Given the description of an element on the screen output the (x, y) to click on. 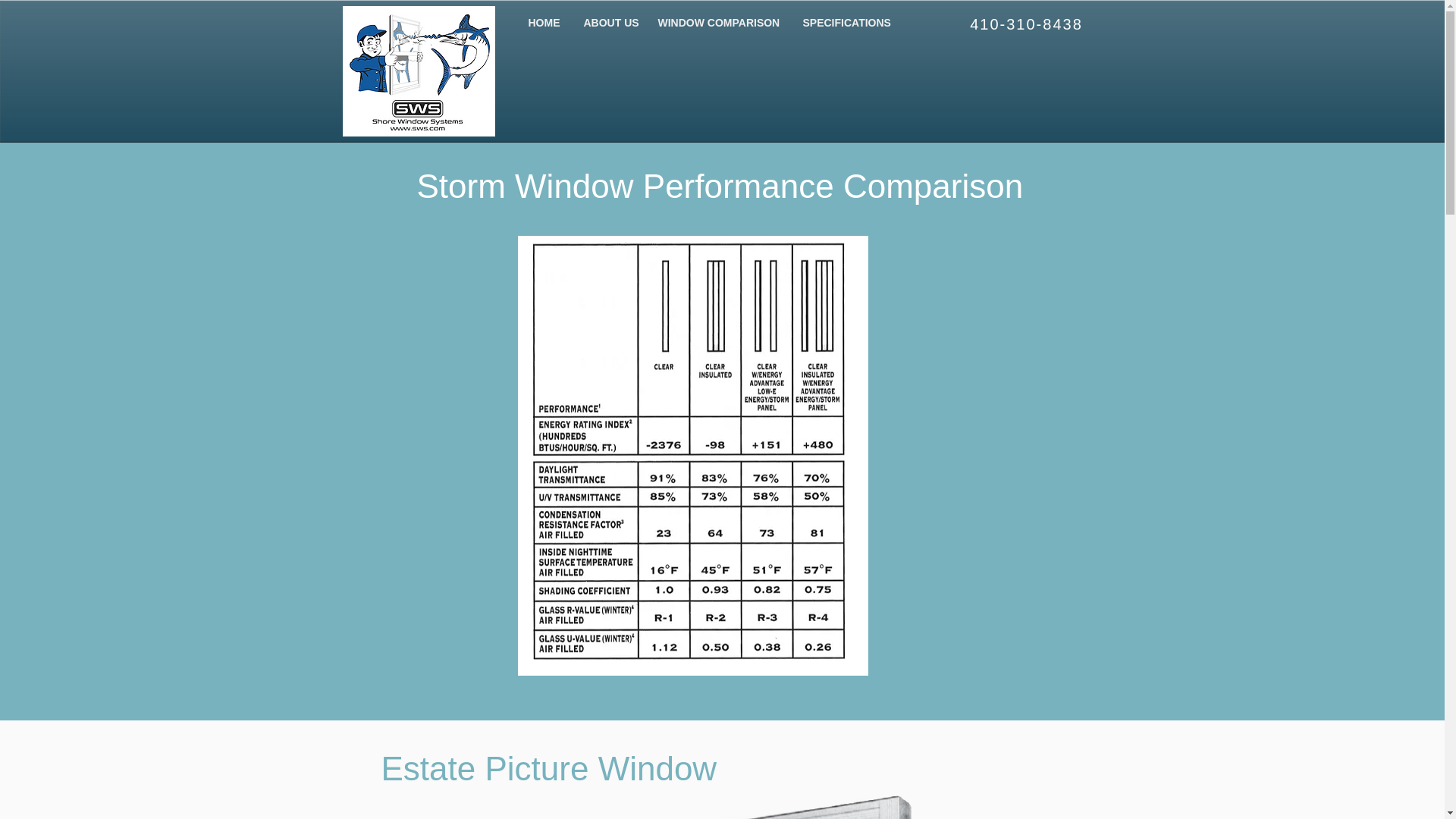
WINDOW COMPARISON (718, 23)
ABOUT US (609, 23)
HOME (544, 23)
SPECIFICATIONS (845, 23)
